Given the description of an element on the screen output the (x, y) to click on. 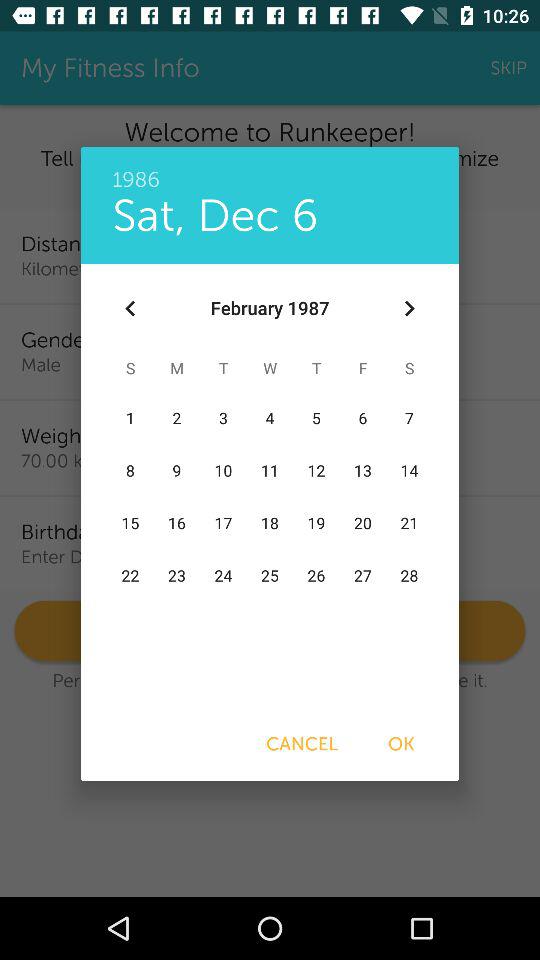
press cancel item (301, 743)
